Given the description of an element on the screen output the (x, y) to click on. 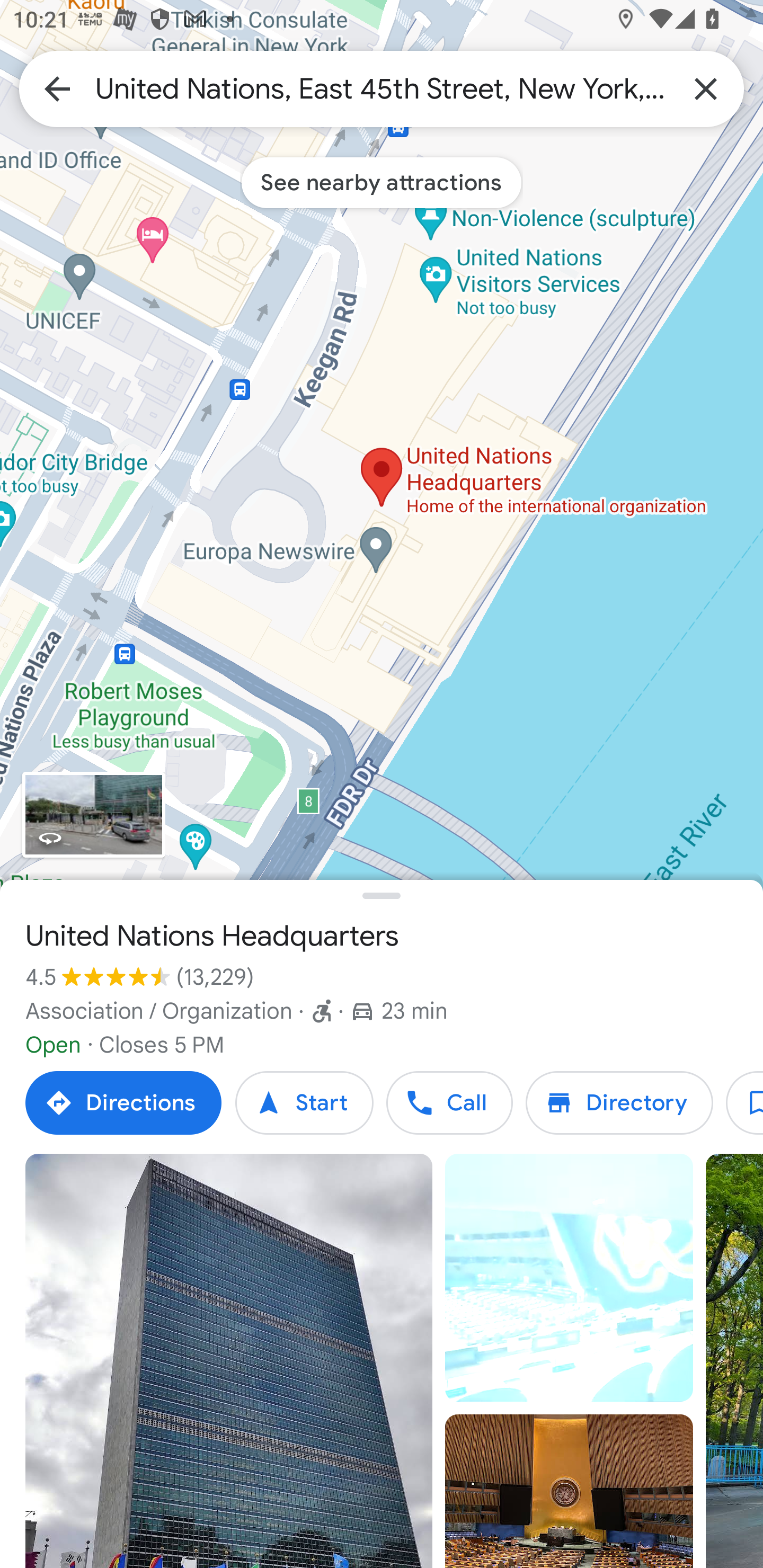
Back (57, 88)
United Nations, East 45th Street, New York, NY (381, 88)
Clear (705, 88)
See nearby attractions (381, 182)
Start Start Start (304, 1102)
Directory Directory Directory (619, 1102)
Photo (228, 1361)
Video (568, 1277)
Photo (568, 1491)
